Given the description of an element on the screen output the (x, y) to click on. 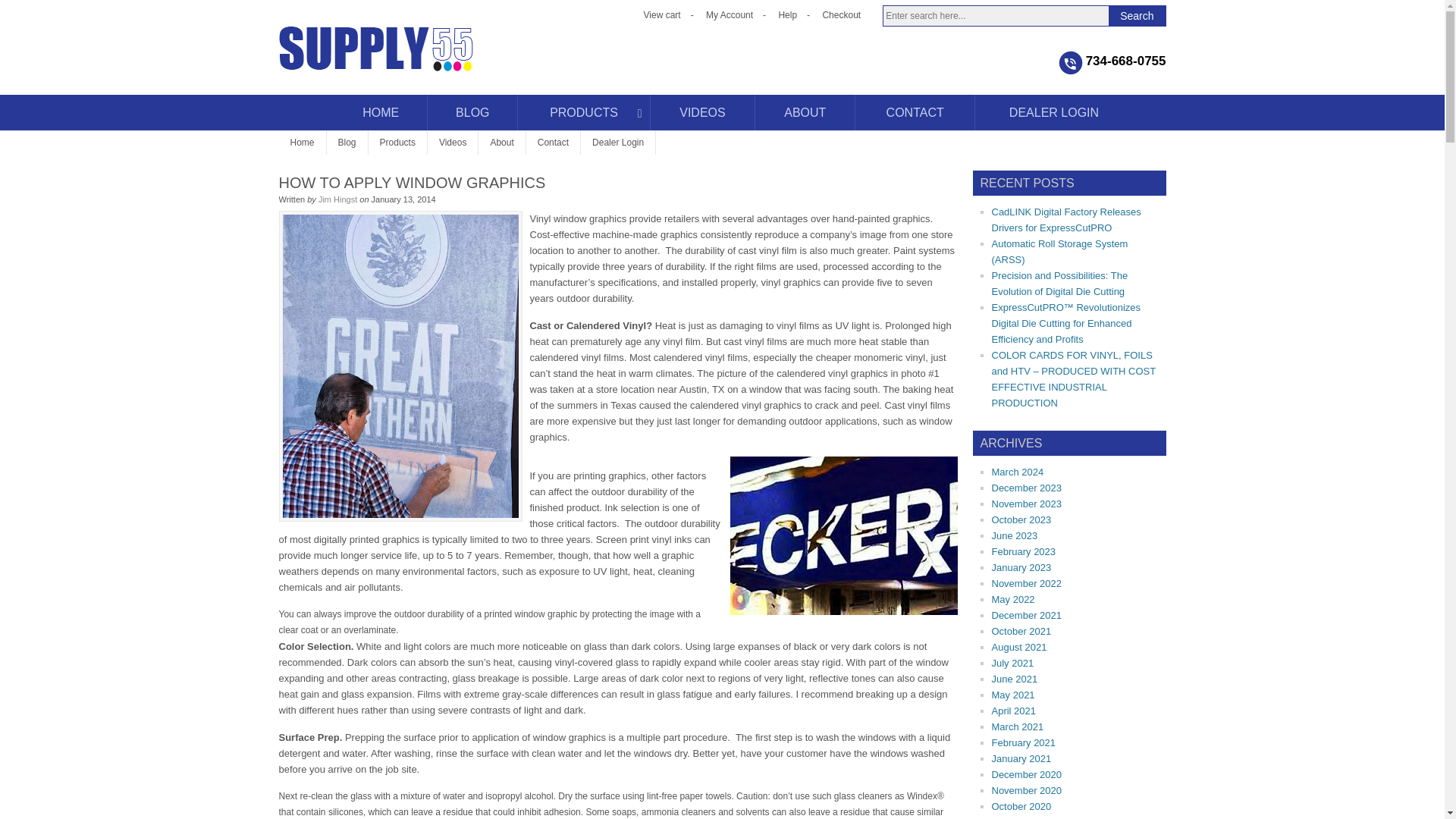
Search (1136, 15)
Search (1136, 15)
Products (398, 142)
CONTACT (915, 112)
Checkout (841, 14)
DEALER LOGIN (1053, 112)
Help (786, 14)
View cart (662, 14)
Supply55 Blog (430, 60)
My Account (729, 14)
